Given the description of an element on the screen output the (x, y) to click on. 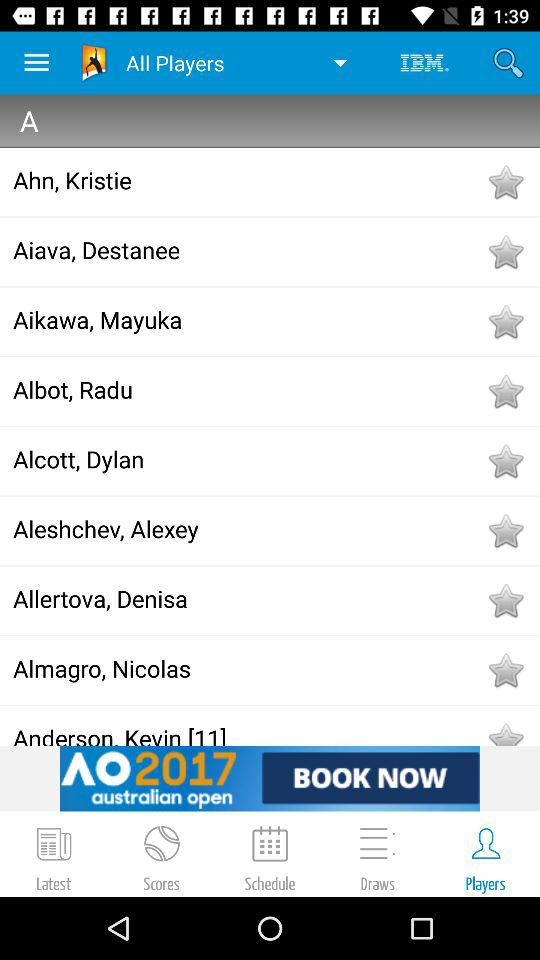
add to favorites (505, 461)
